Given the description of an element on the screen output the (x, y) to click on. 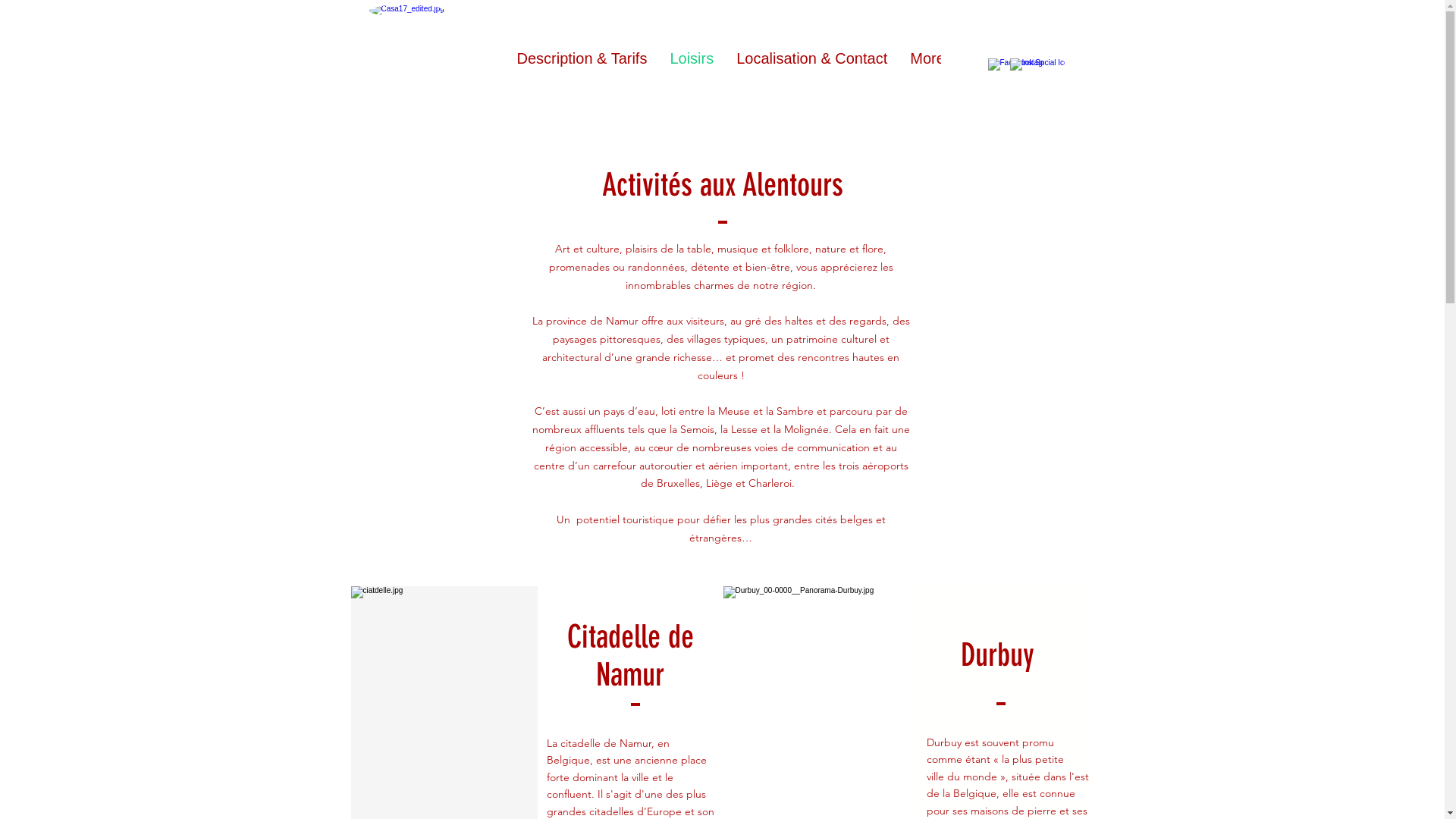
Localisation & Contact Element type: text (811, 66)
Description & Tarifs Element type: text (581, 66)
Loisirs Element type: text (691, 66)
